Given the description of an element on the screen output the (x, y) to click on. 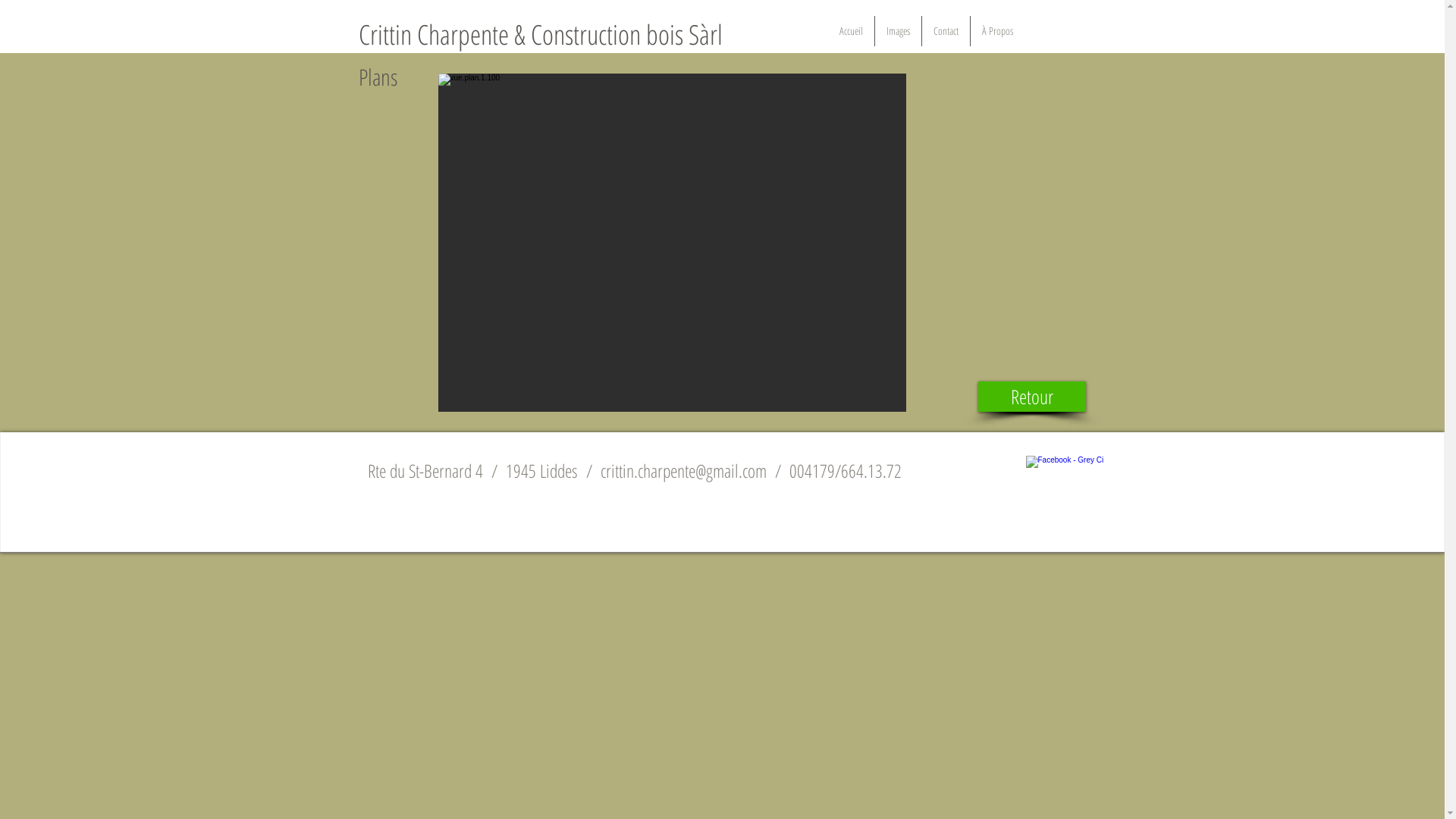
Images Element type: text (898, 30)
Retour Element type: text (1031, 396)
crittin.charpente@gmail.com Element type: text (683, 470)
Contact Element type: text (945, 30)
Accueil Element type: text (851, 30)
